Given the description of an element on the screen output the (x, y) to click on. 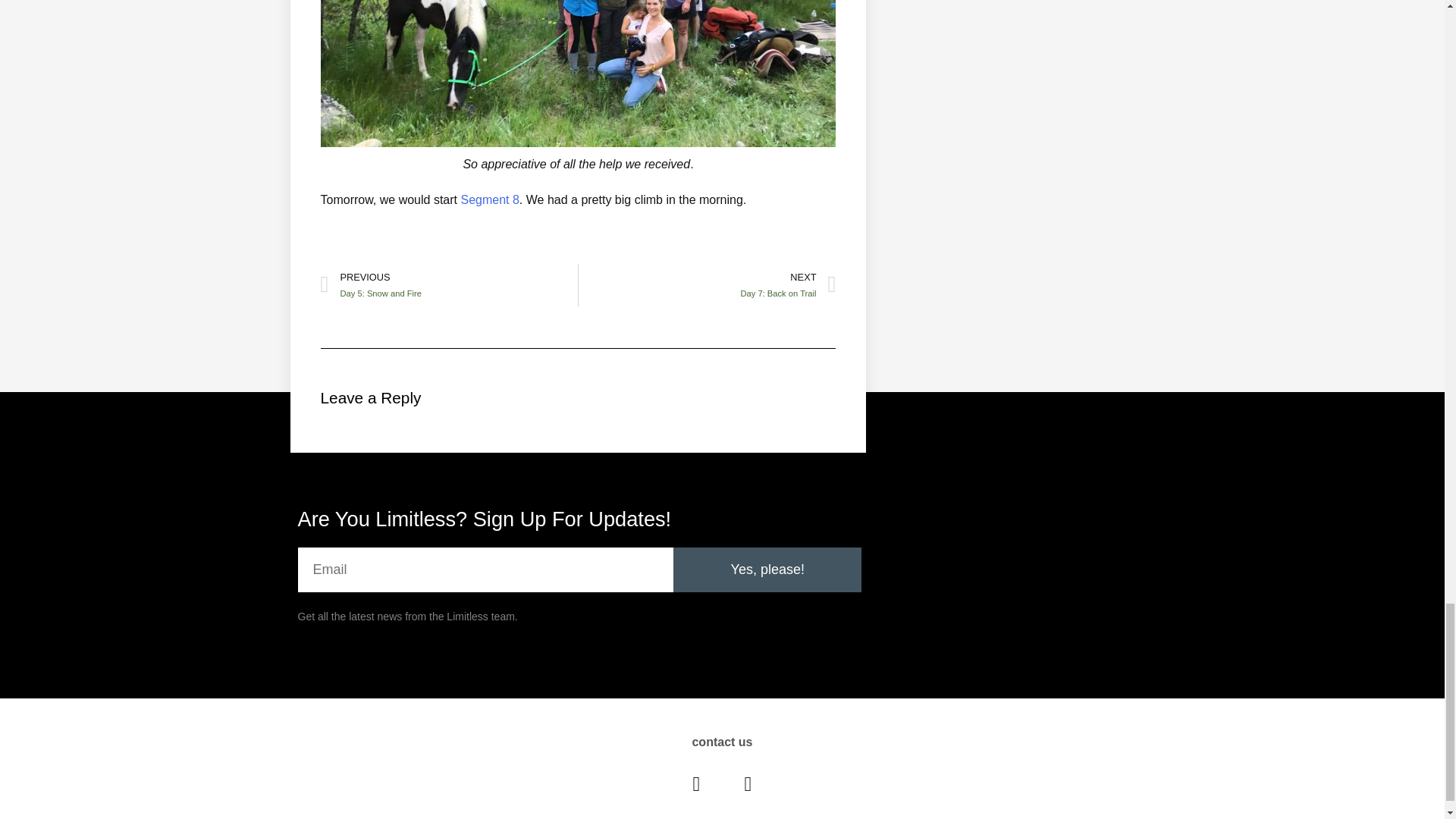
Segment 8 (448, 284)
